Given the description of an element on the screen output the (x, y) to click on. 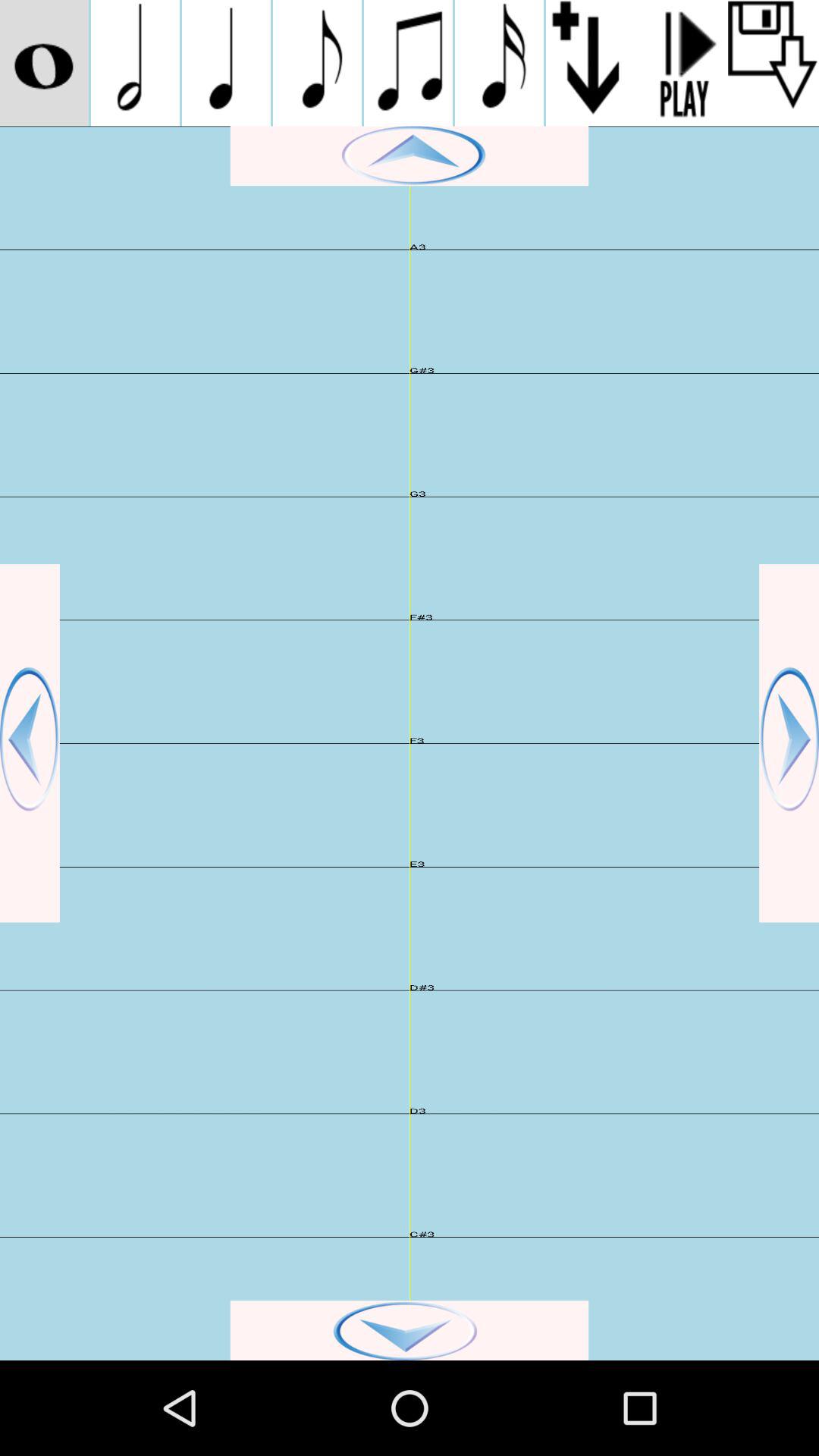
up arrow (409, 155)
